Given the description of an element on the screen output the (x, y) to click on. 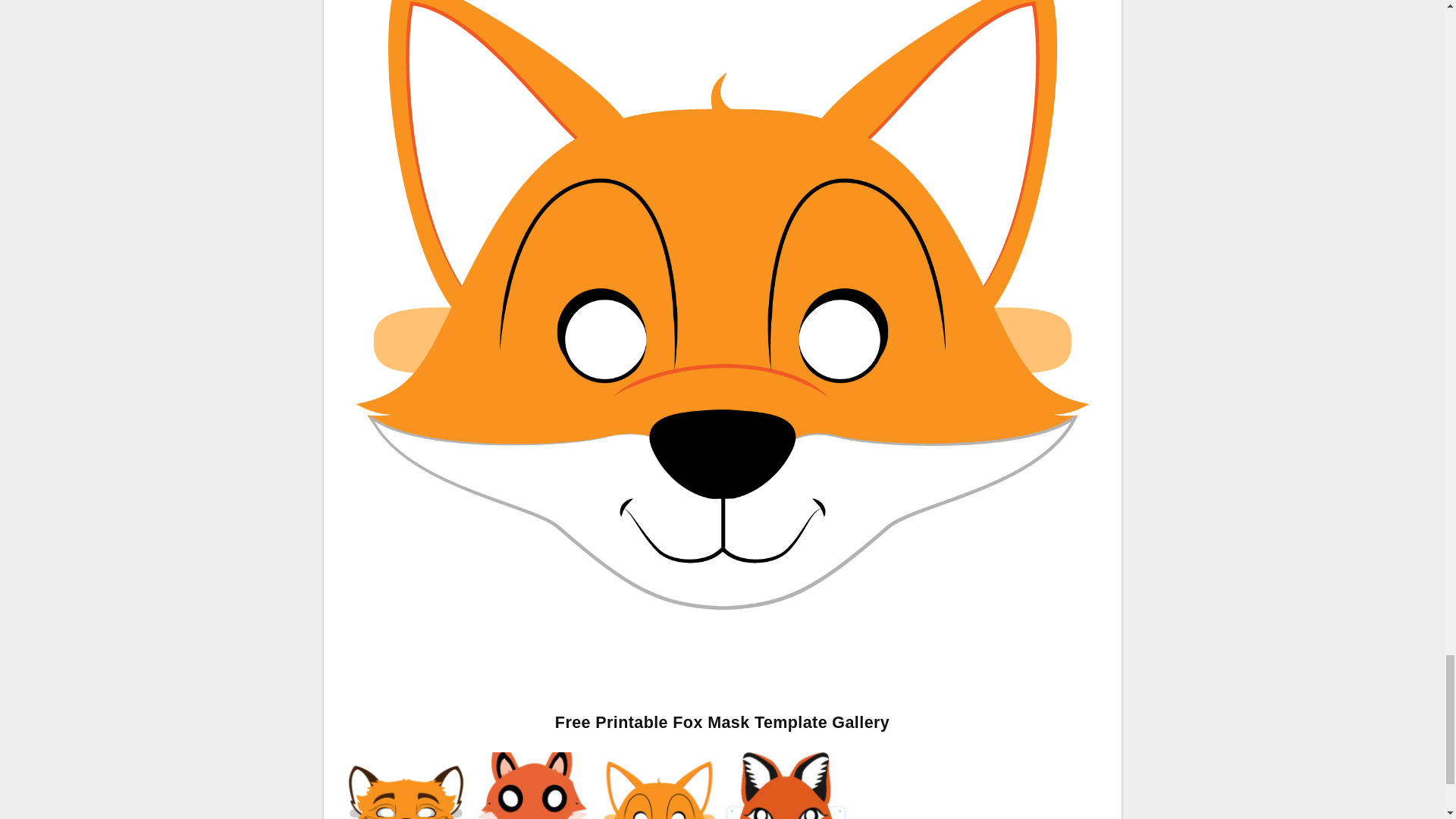
Diy Fox Printable Mask For Kids Clipart Drawer Diy Printable (532, 810)
Free Printable Fox Mask Template Free Printable (657, 810)
Diy Fox Printable Mask For Kids Clipart Drawer Diy Printable (532, 785)
